Given the description of an element on the screen output the (x, y) to click on. 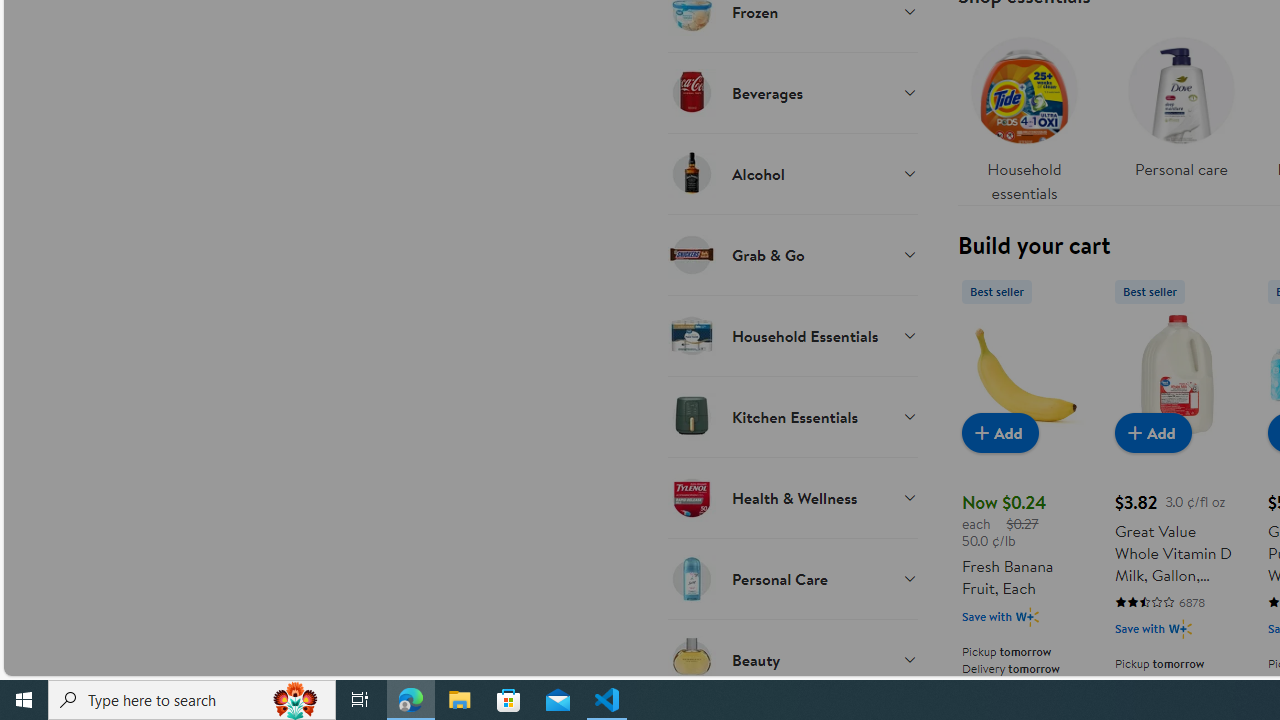
Walmart Plus (1179, 628)
Health & Wellness (792, 497)
Household Essentials (792, 335)
Household essentials (1024, 114)
Add to cart - Fresh Banana Fruit, Each (1000, 431)
Grab & Go (792, 254)
